Given the description of an element on the screen output the (x, y) to click on. 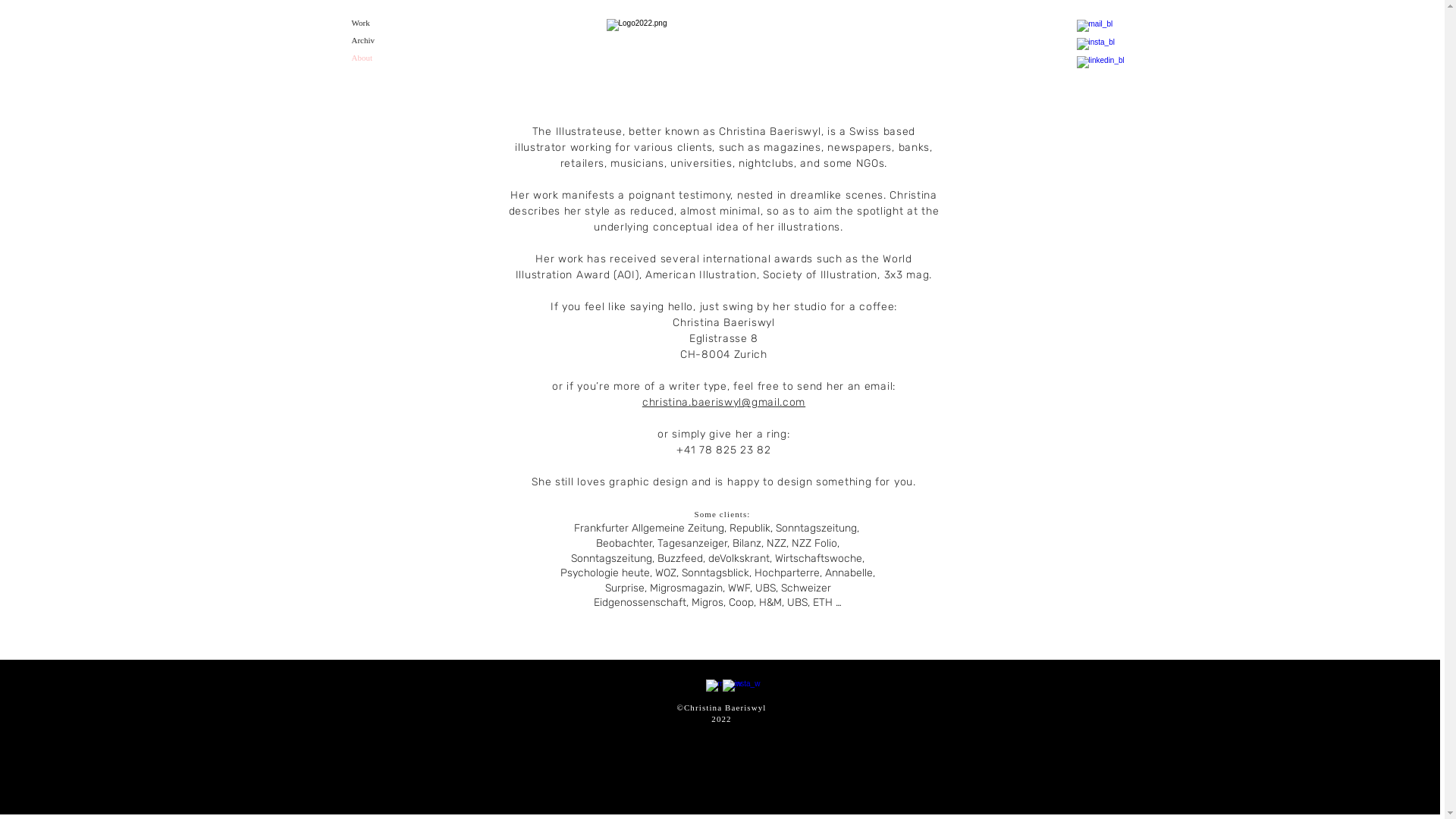
Archiv Element type: text (389, 40)
Work Element type: text (389, 22)
About Element type: text (389, 57)
christina.baeriswyl@gmail.com Element type: text (723, 401)
